Given the description of an element on the screen output the (x, y) to click on. 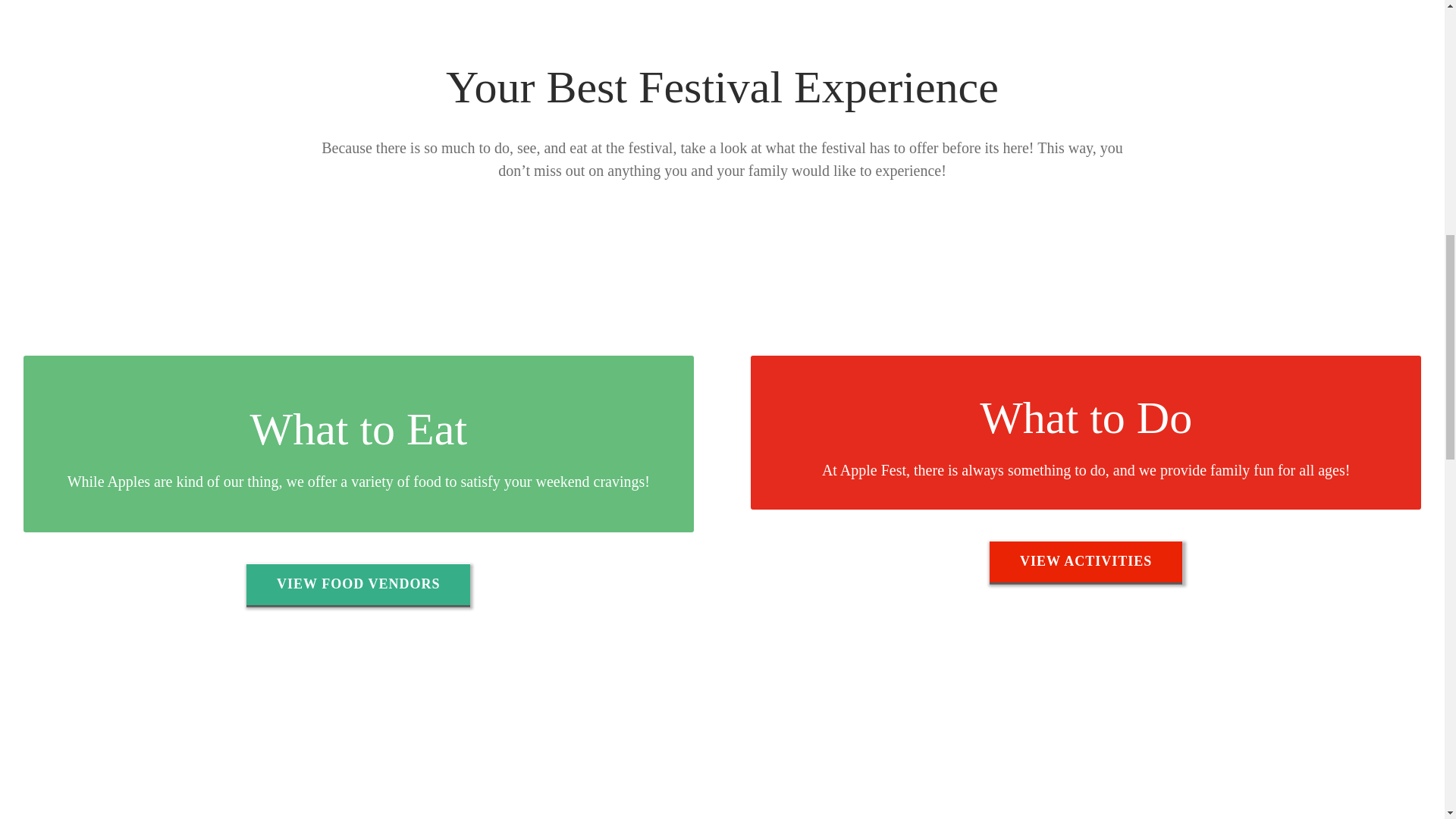
VIEW FOOD VENDORS (358, 584)
VIEW ACTIVITIES (1086, 561)
